Given the description of an element on the screen output the (x, y) to click on. 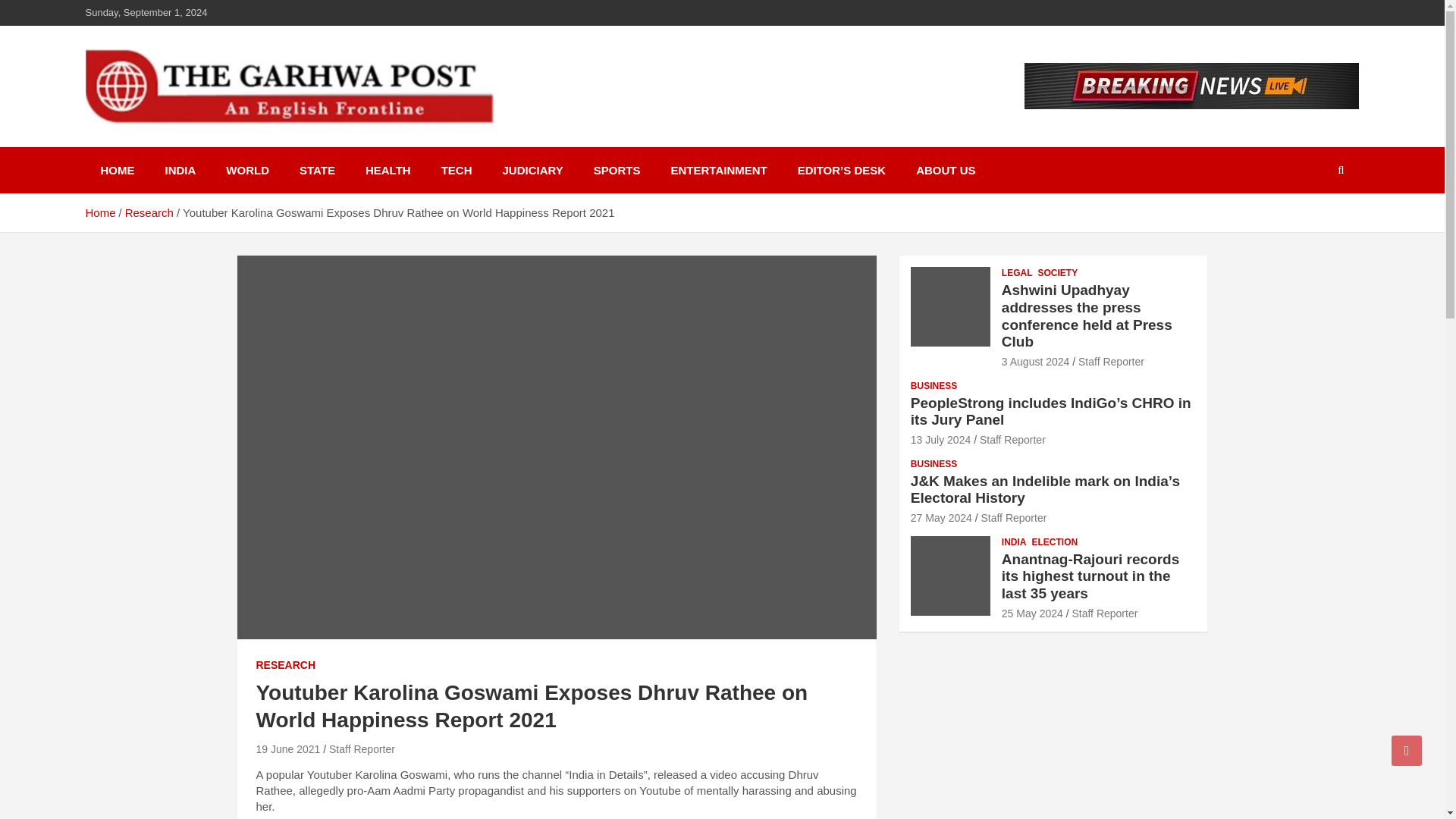
RESEARCH (285, 665)
ABOUT US (945, 170)
HEALTH (388, 170)
INDIA (180, 170)
Staff Reporter (361, 748)
WORLD (247, 170)
THE GARHWA POST (232, 143)
SOCIETY (1056, 273)
3 August 2024 (1035, 361)
